Given the description of an element on the screen output the (x, y) to click on. 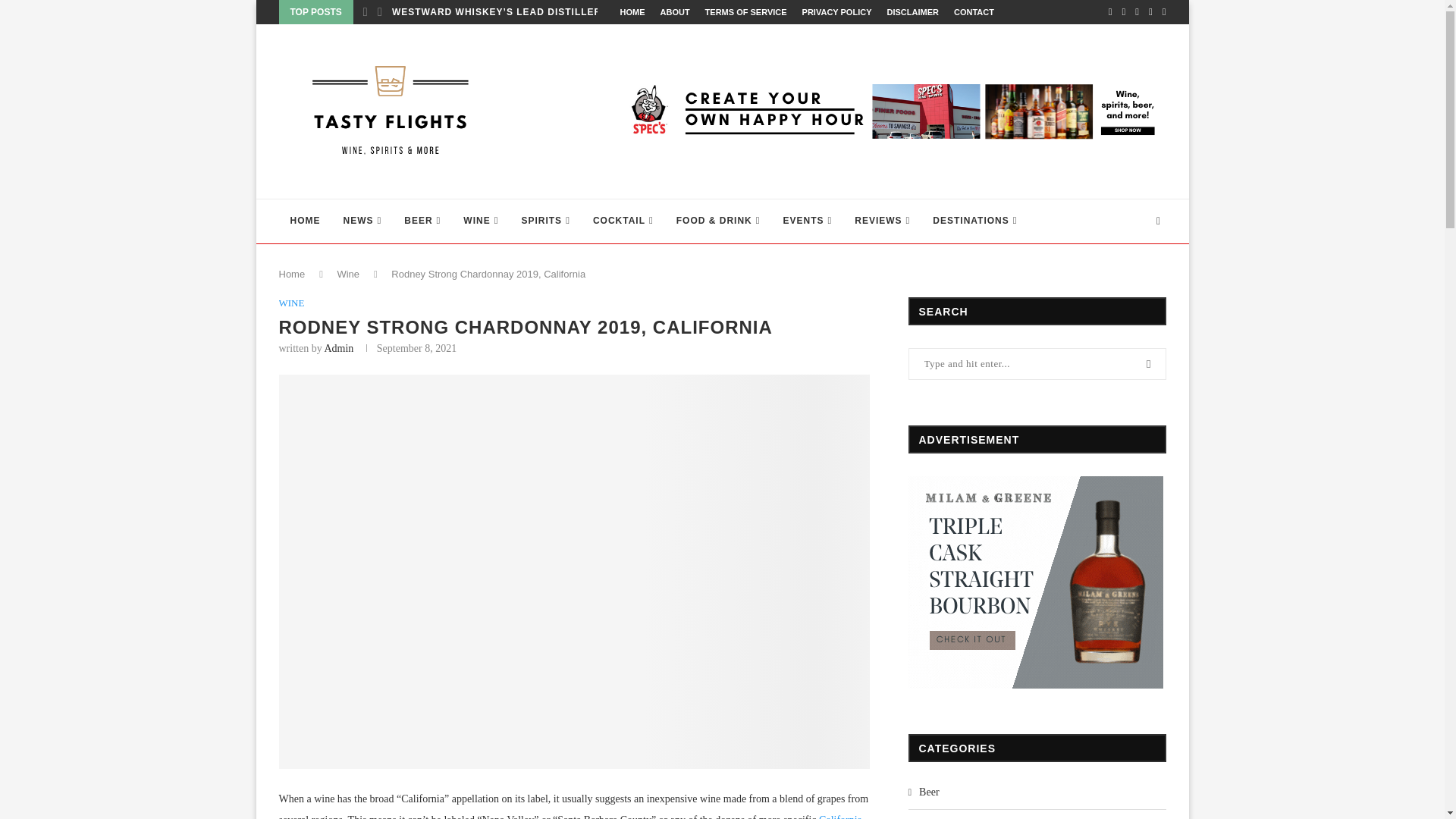
CONTACT (973, 12)
HOME (305, 221)
HOME (632, 12)
DISCLAIMER (911, 12)
PRIVACY POLICY (837, 12)
NEWS (362, 221)
TERMS OF SERVICE (745, 12)
ABOUT (673, 12)
